Given the description of an element on the screen output the (x, y) to click on. 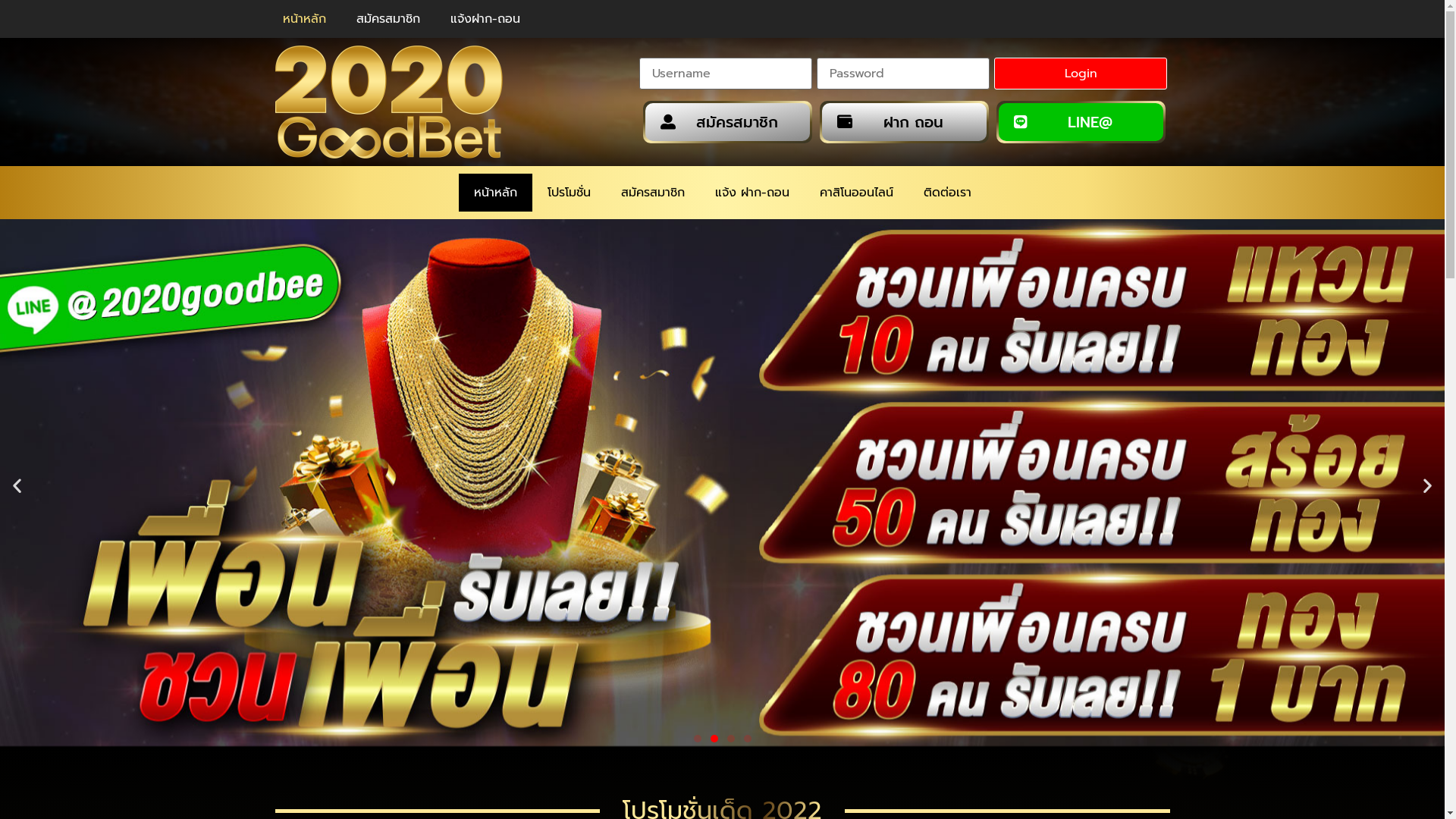
Login Element type: text (1080, 73)
LINE@ Element type: text (1080, 122)
